Given the description of an element on the screen output the (x, y) to click on. 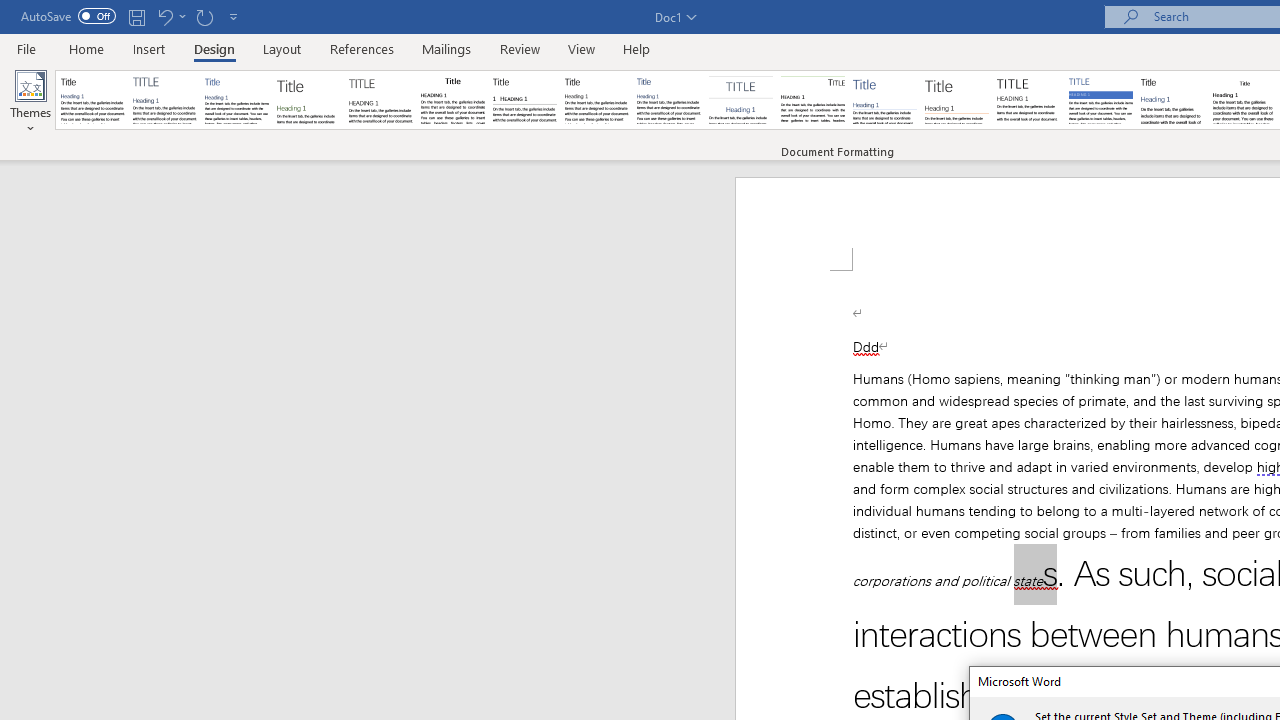
Lines (Simple) (884, 100)
Black & White (Numbered) (524, 100)
Black & White (Word 2013) (596, 100)
Lines (Stylish) (957, 100)
Word (1172, 100)
Black & White (Classic) (452, 100)
Repeat Accessibility Checker (204, 15)
Black & White (Capitalized) (381, 100)
